Given the description of an element on the screen output the (x, y) to click on. 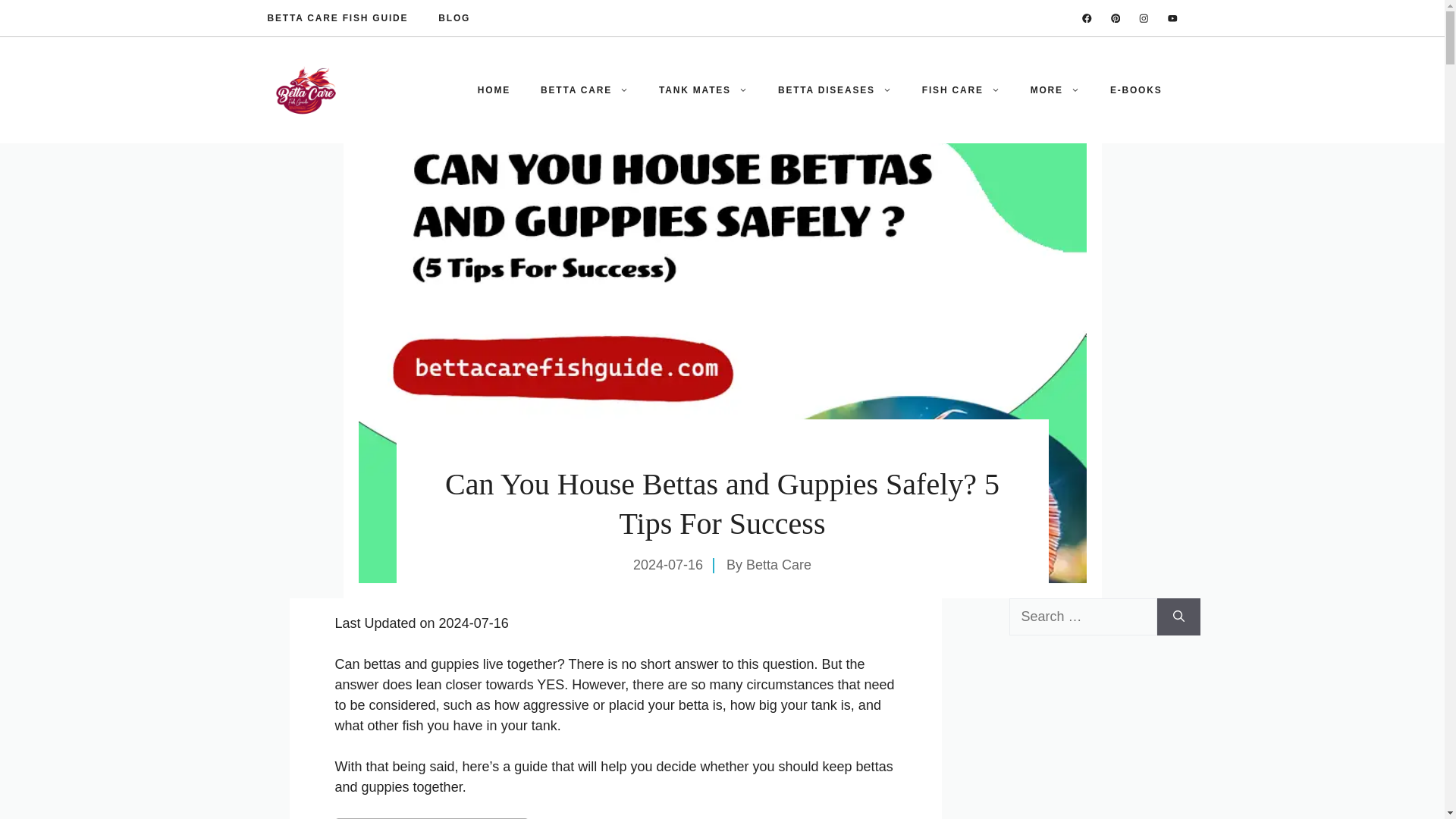
BLOG (454, 18)
FISH CARE (960, 90)
BETTA DISEASES (834, 90)
TANK MATES (702, 90)
HOME (494, 90)
BETTA CARE (584, 90)
BETTA CARE FISH GUIDE (336, 18)
